Given the description of an element on the screen output the (x, y) to click on. 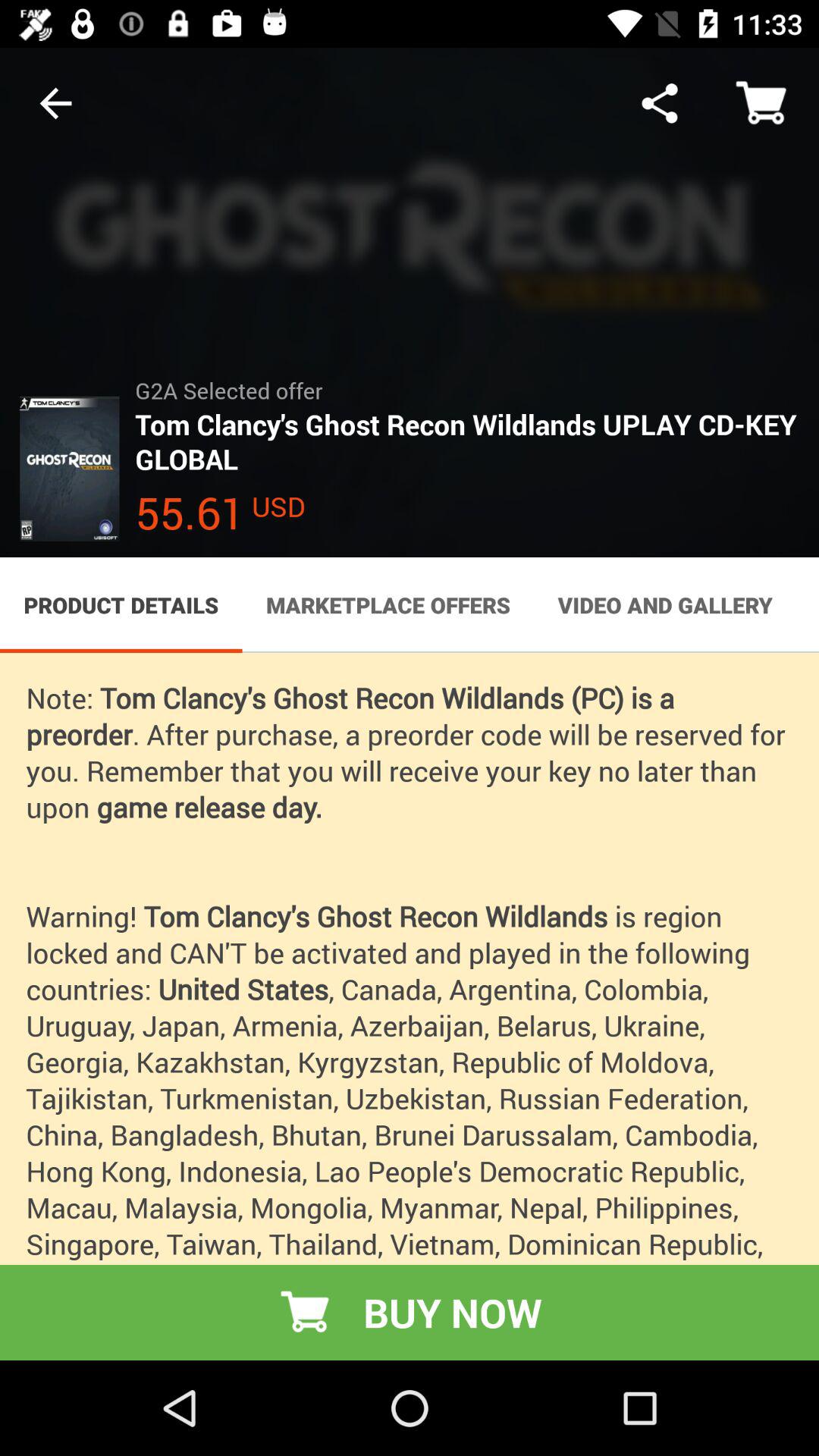
flip until the note tom clancy (409, 1006)
